Given the description of an element on the screen output the (x, y) to click on. 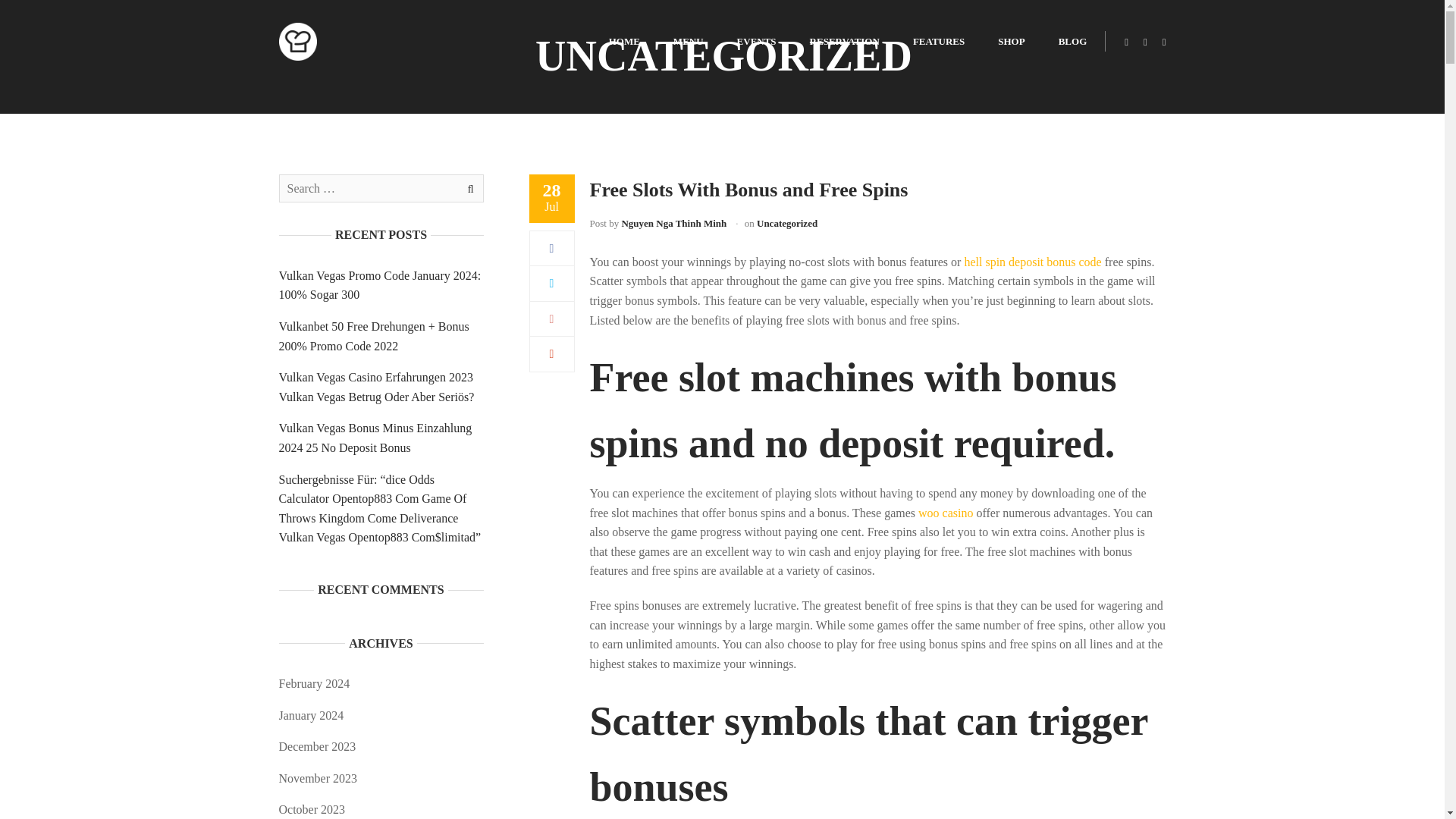
MENU (688, 41)
EVENTS (757, 41)
HOME (624, 41)
